Given the description of an element on the screen output the (x, y) to click on. 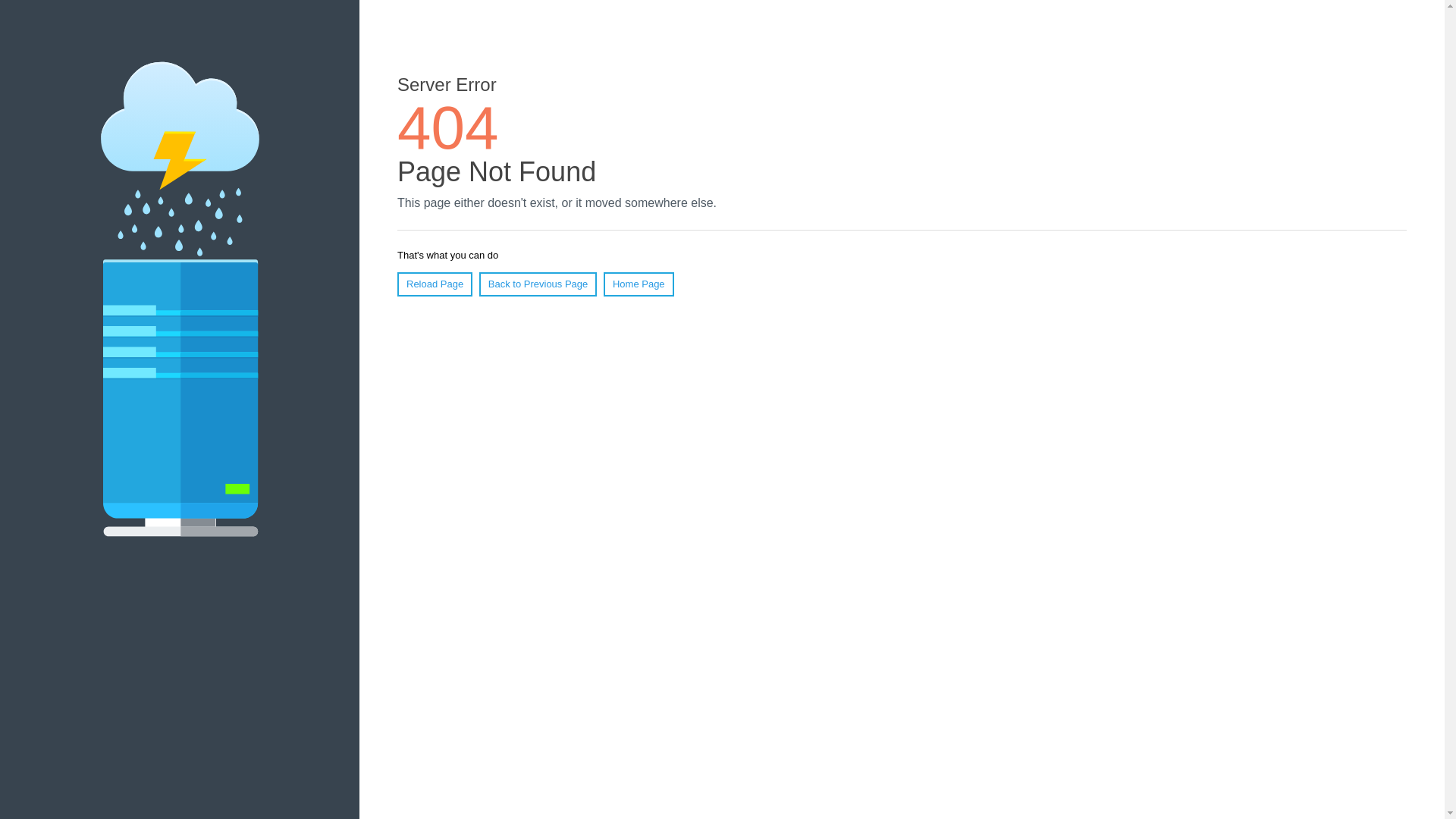
Back to Previous Page Element type: text (538, 284)
Reload Page Element type: text (434, 284)
Home Page Element type: text (638, 284)
